Given the description of an element on the screen output the (x, y) to click on. 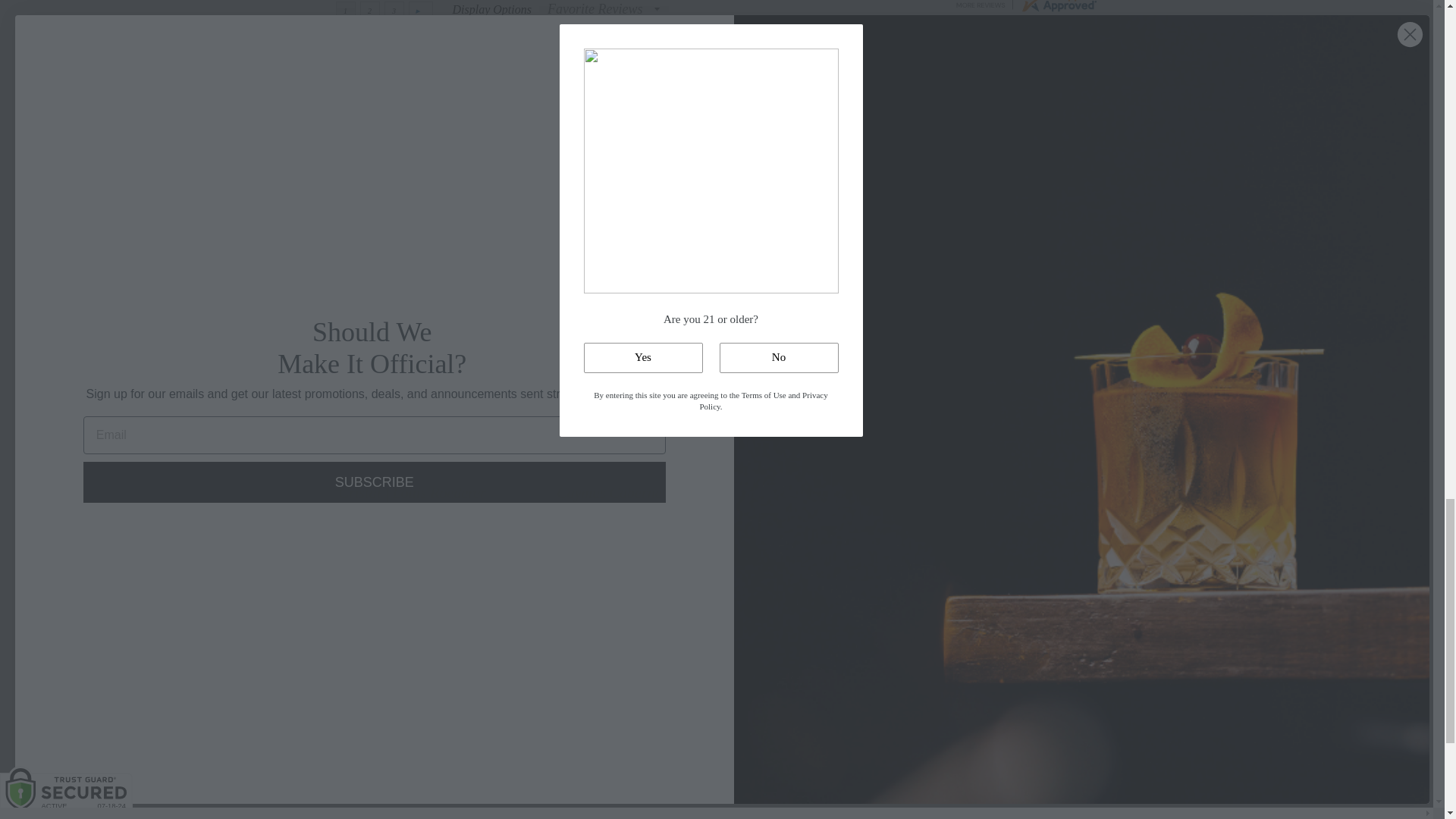
American Express (944, 746)
2 (368, 11)
Visa (1082, 746)
Apple Pay (979, 746)
3 (393, 11)
Discover (1012, 746)
1 (344, 11)
Sort Reviews (603, 13)
Mastercard (1047, 746)
